Given the description of an element on the screen output the (x, y) to click on. 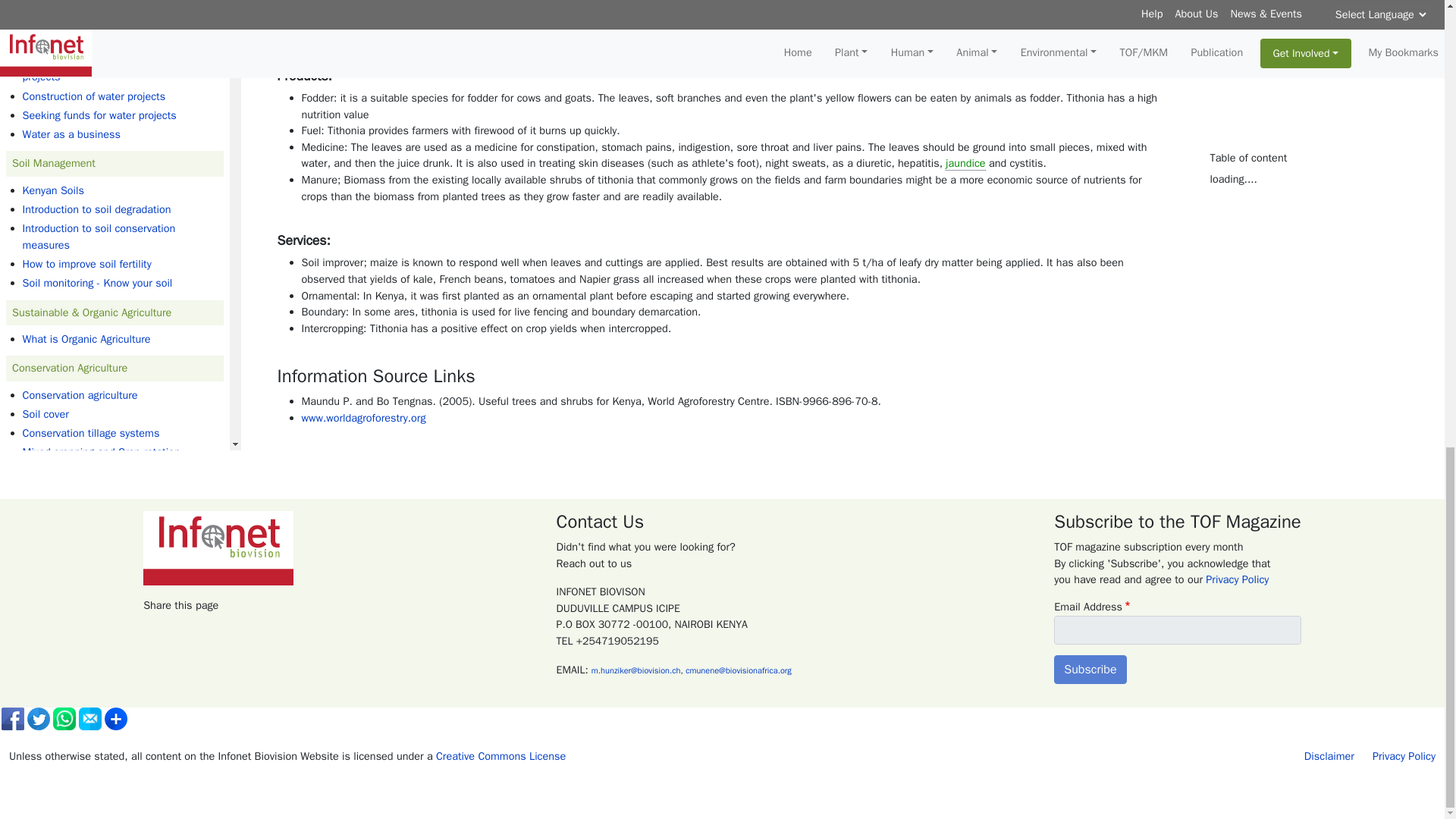
Subscribe (1089, 669)
